Given the description of an element on the screen output the (x, y) to click on. 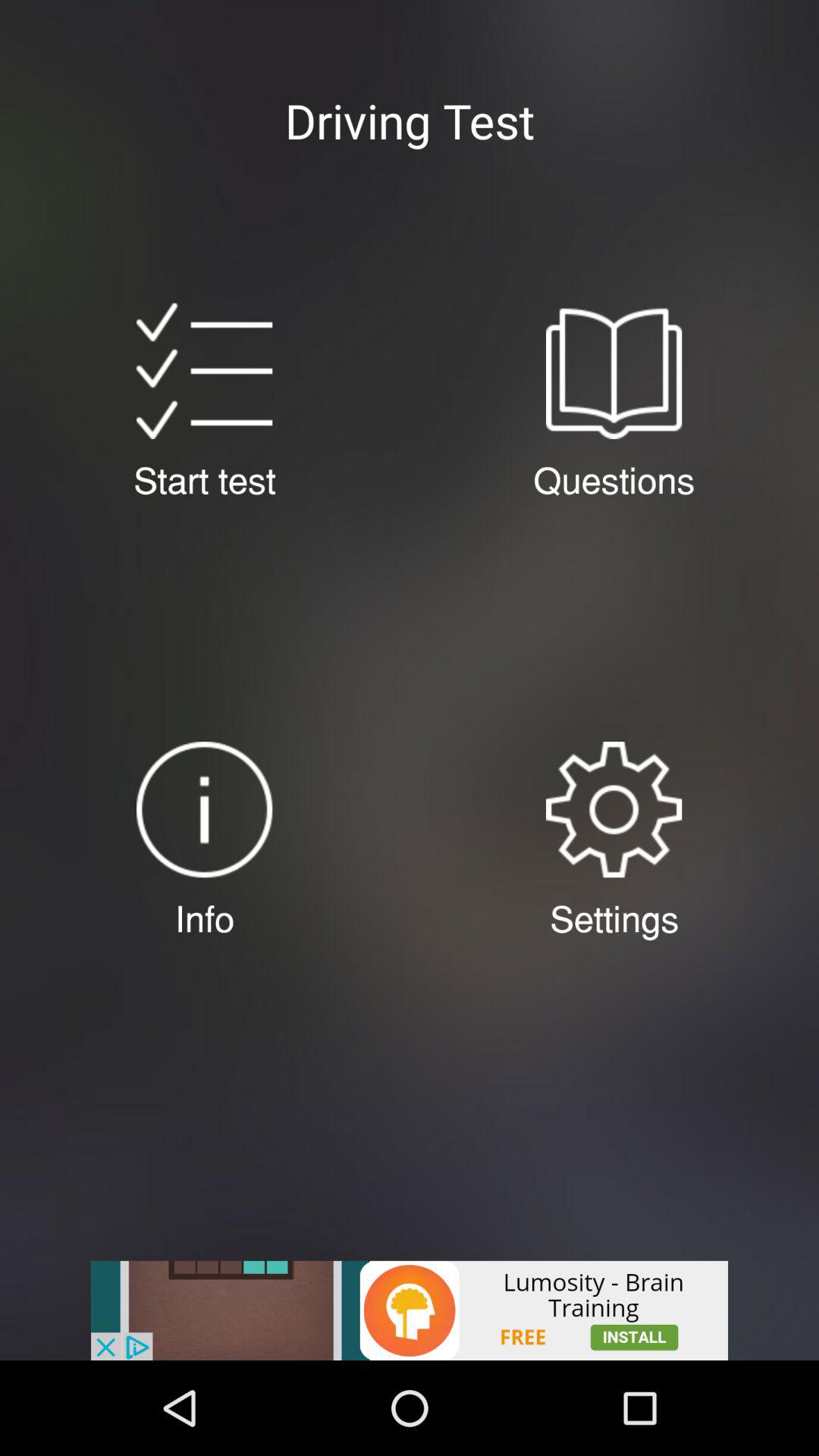
select info menu (204, 809)
